Given the description of an element on the screen output the (x, y) to click on. 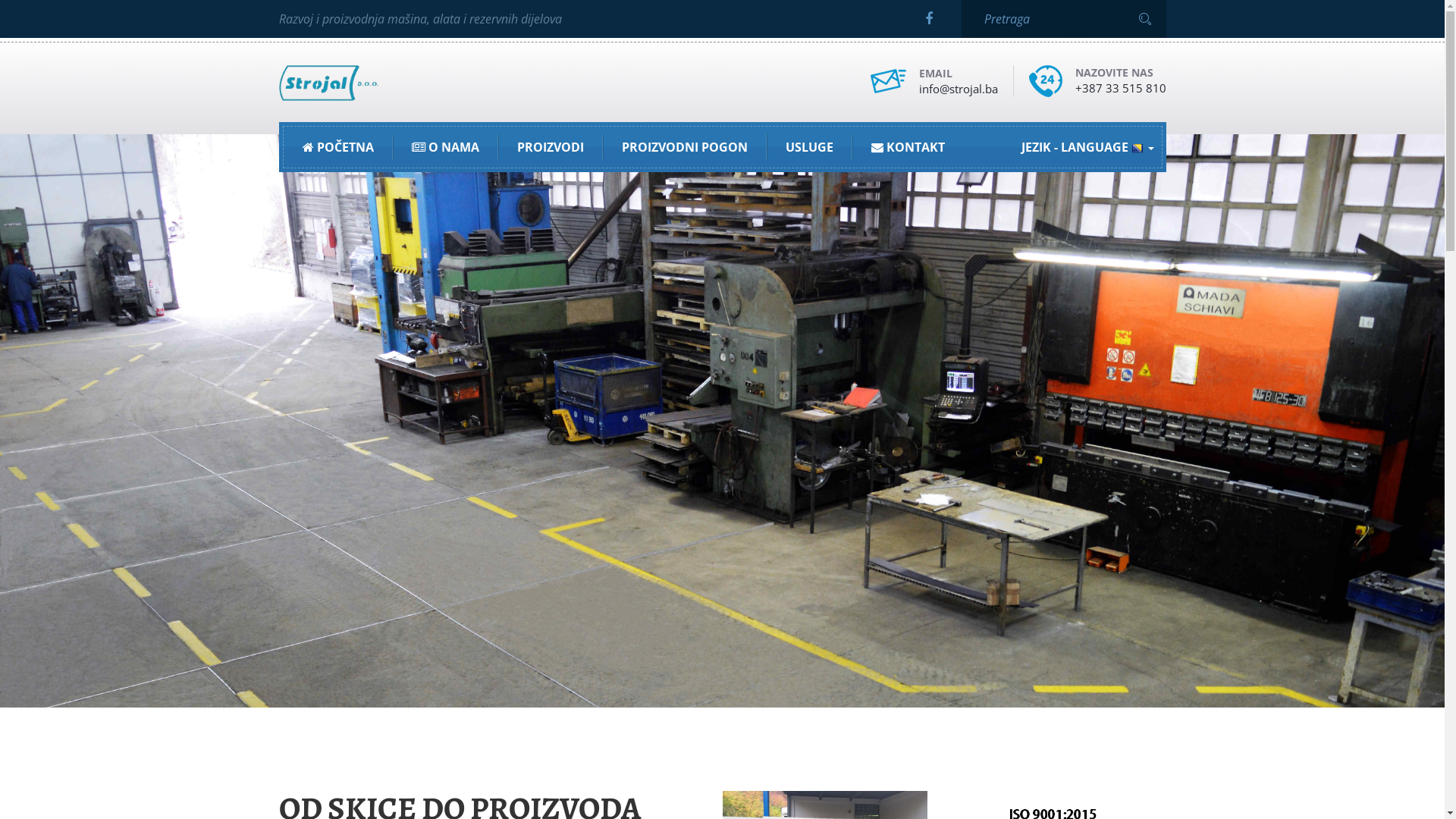
KONTAKT Element type: text (907, 146)
PROIZVODI Element type: text (549, 146)
Bosanski Element type: text (1075, 189)
USLUGE Element type: text (808, 146)
O NAMA Element type: text (445, 146)
JEZIK - LANGUAGE Element type: text (1087, 146)
PROIZVODNI POGON Element type: text (683, 146)
